Given the description of an element on the screen output the (x, y) to click on. 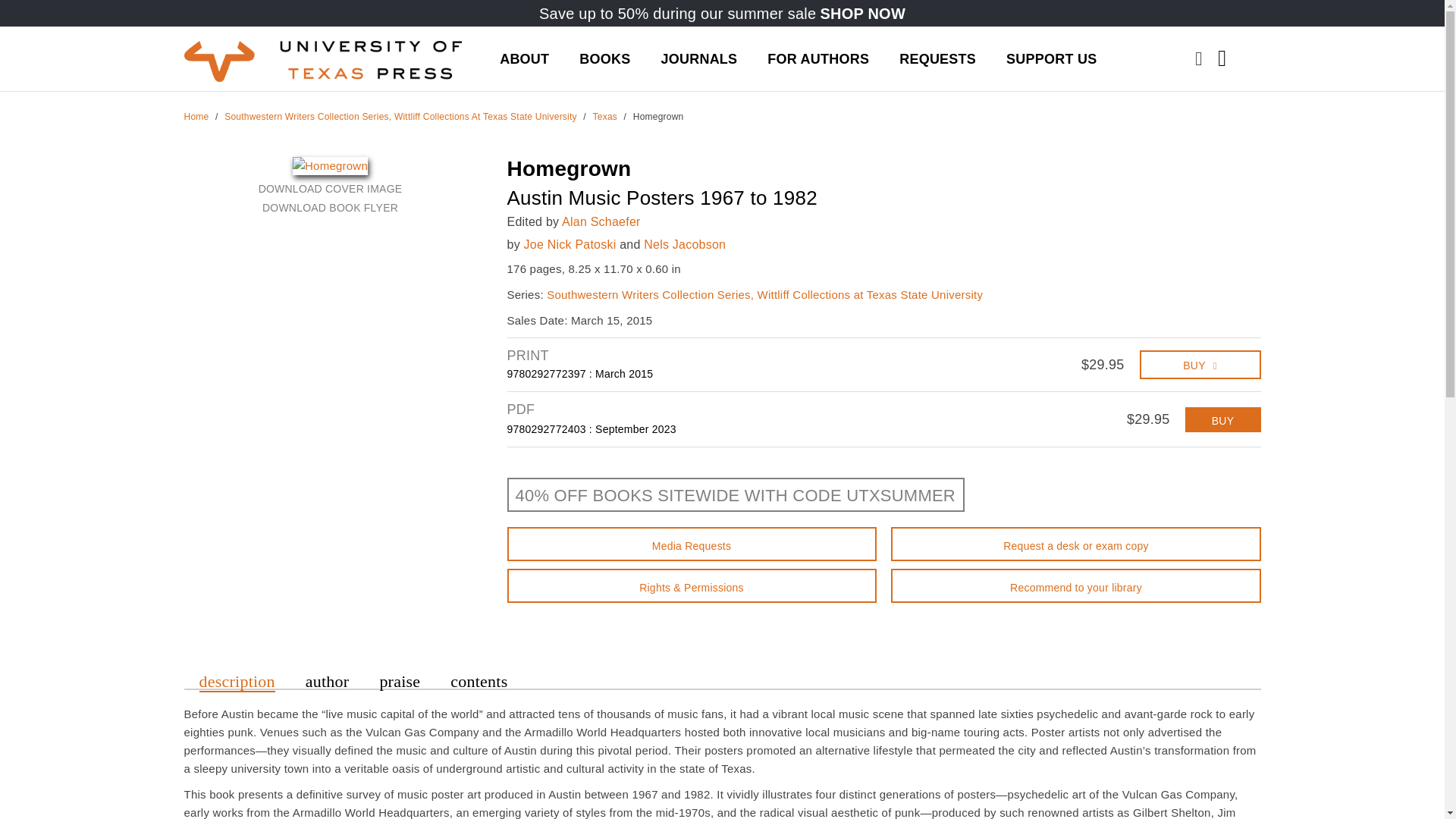
View results for texas (604, 116)
JOURNALS (698, 58)
Homegrown (330, 164)
FOR AUTHORS (818, 58)
eBook (1222, 418)
My Account (1247, 45)
Back to homepage (195, 116)
SHOP NOW (862, 13)
REQUESTS (937, 58)
